Given the description of an element on the screen output the (x, y) to click on. 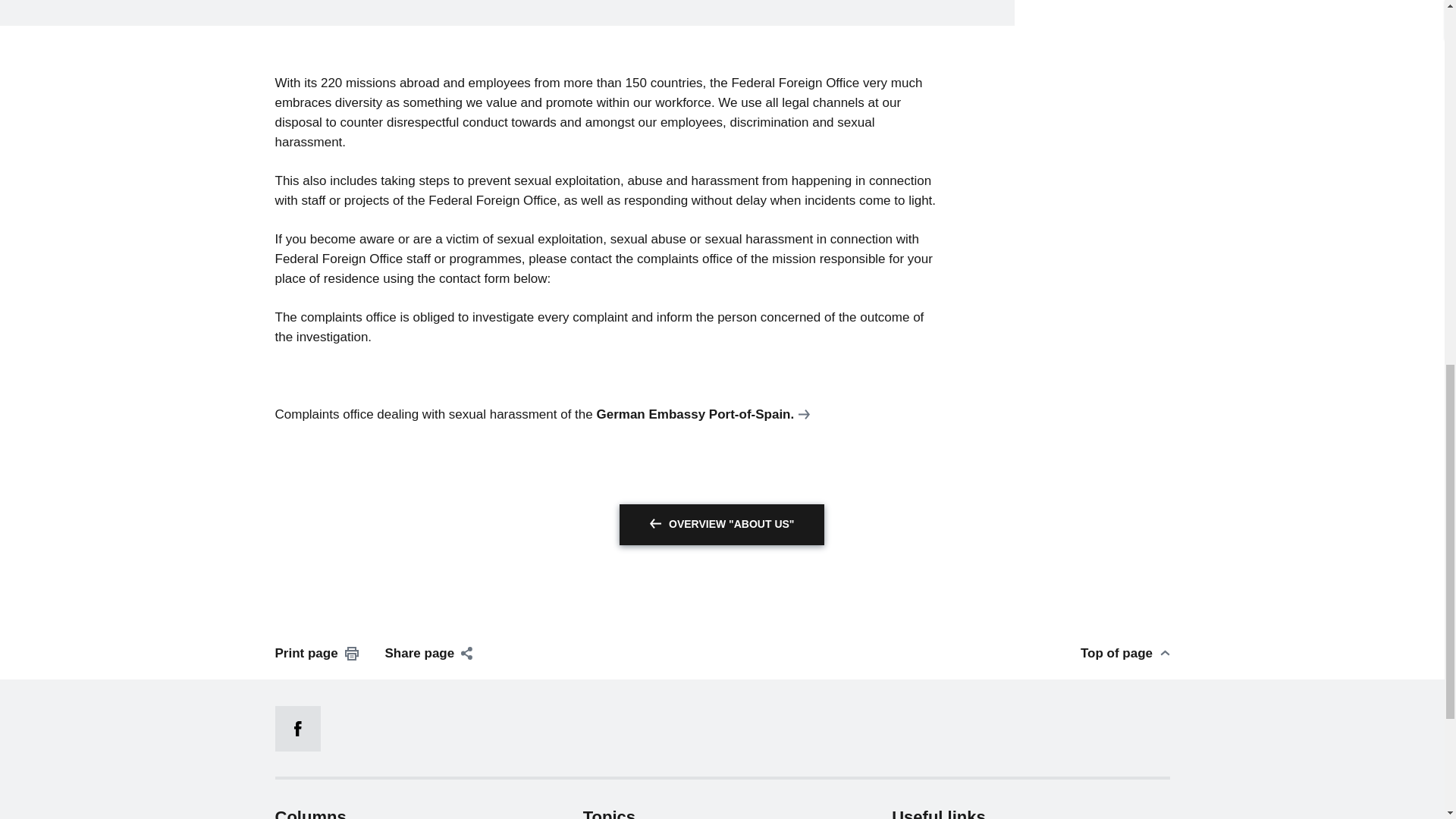
Top of page (1125, 653)
Overview About us (722, 524)
Print page (316, 653)
